Given the description of an element on the screen output the (x, y) to click on. 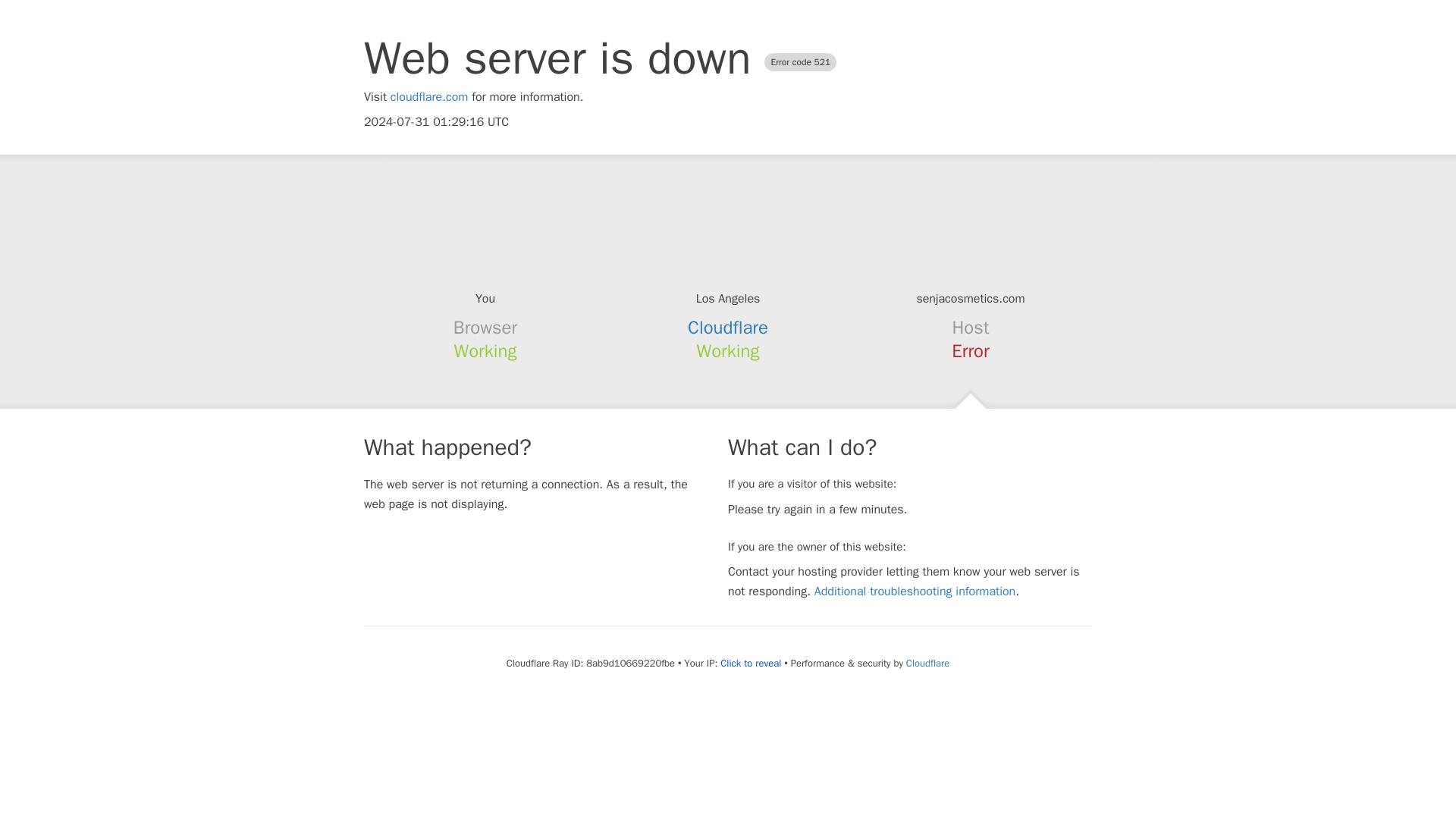
Cloudflare (927, 662)
Cloudflare (727, 327)
Additional troubleshooting information (913, 590)
Click to reveal (750, 663)
cloudflare.com (429, 96)
